Given the description of an element on the screen output the (x, y) to click on. 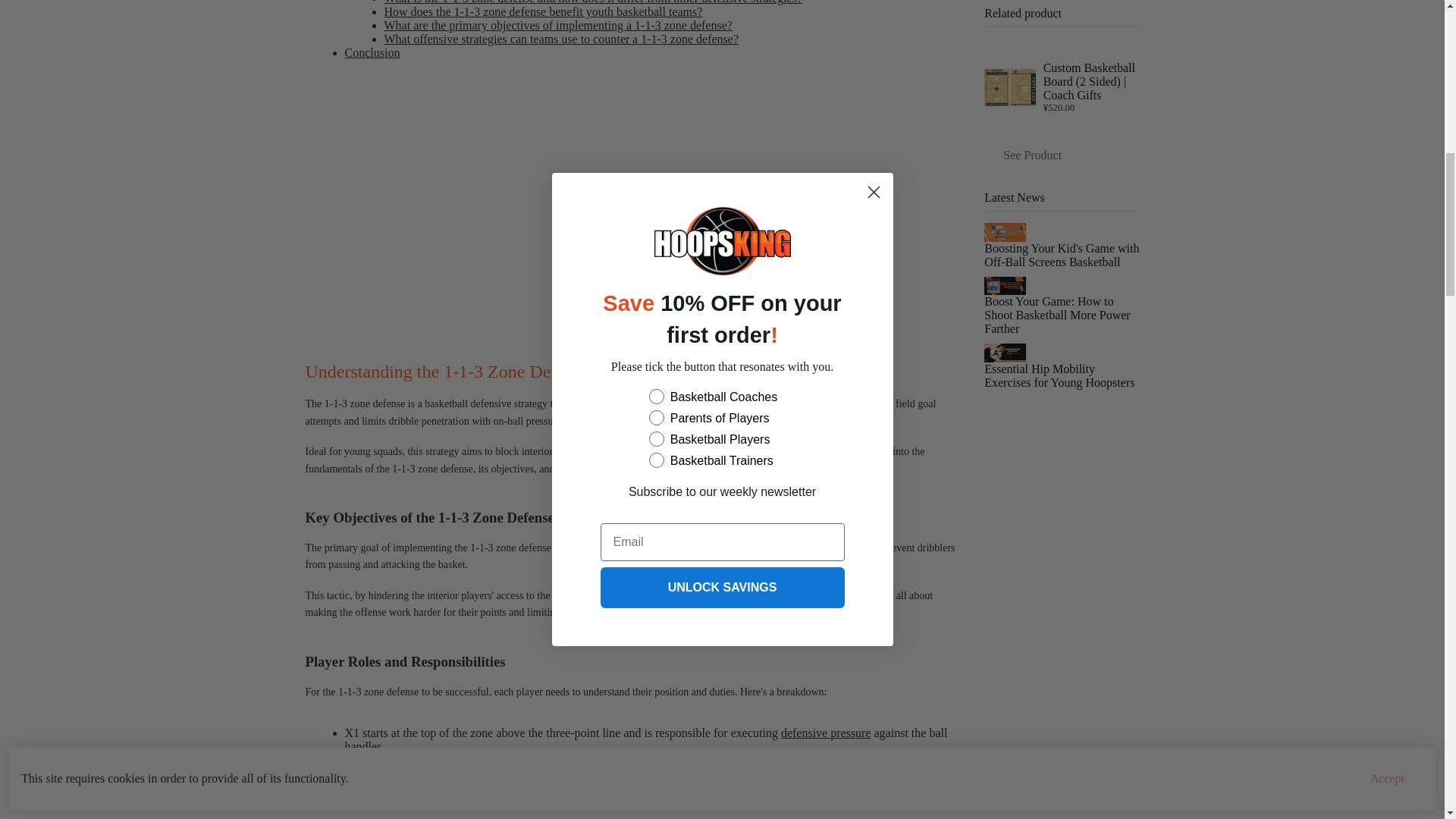
YouTube video player (632, 205)
